Given the description of an element on the screen output the (x, y) to click on. 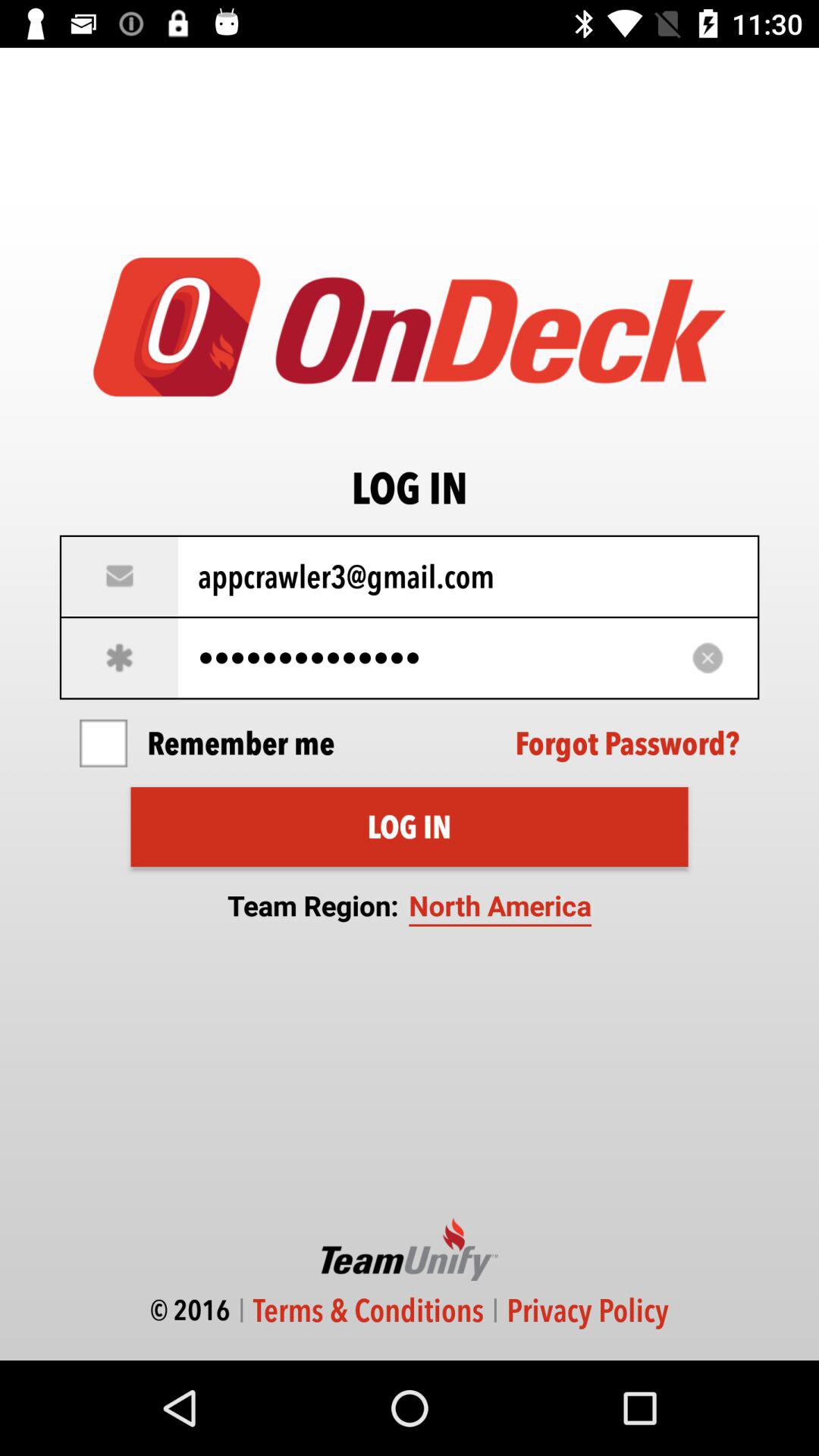
launch the icon below appcrawler3@gmail.com icon (409, 657)
